Given the description of an element on the screen output the (x, y) to click on. 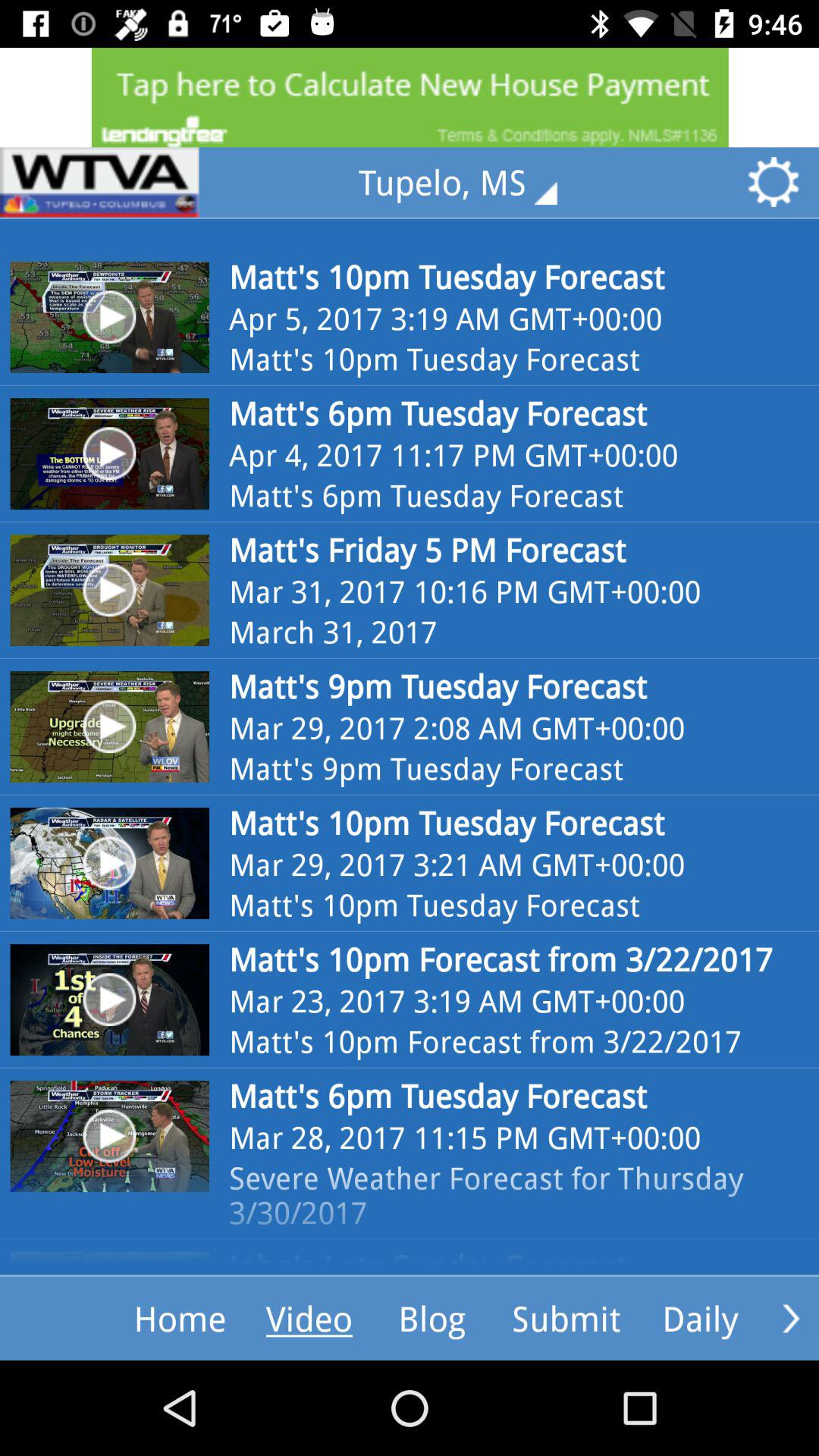
go to next (791, 1318)
